Given the description of an element on the screen output the (x, y) to click on. 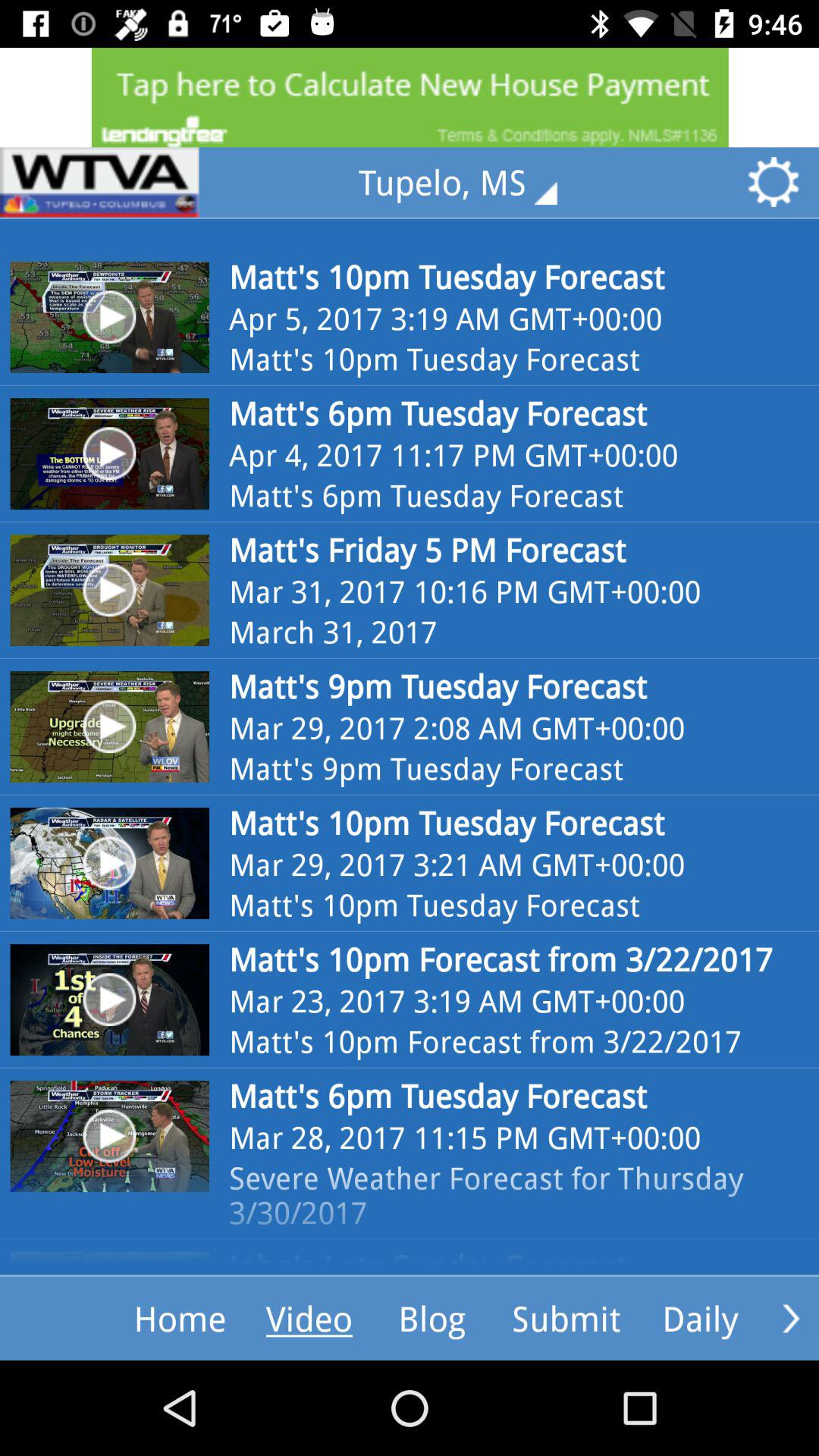
go to next (791, 1318)
